Given the description of an element on the screen output the (x, y) to click on. 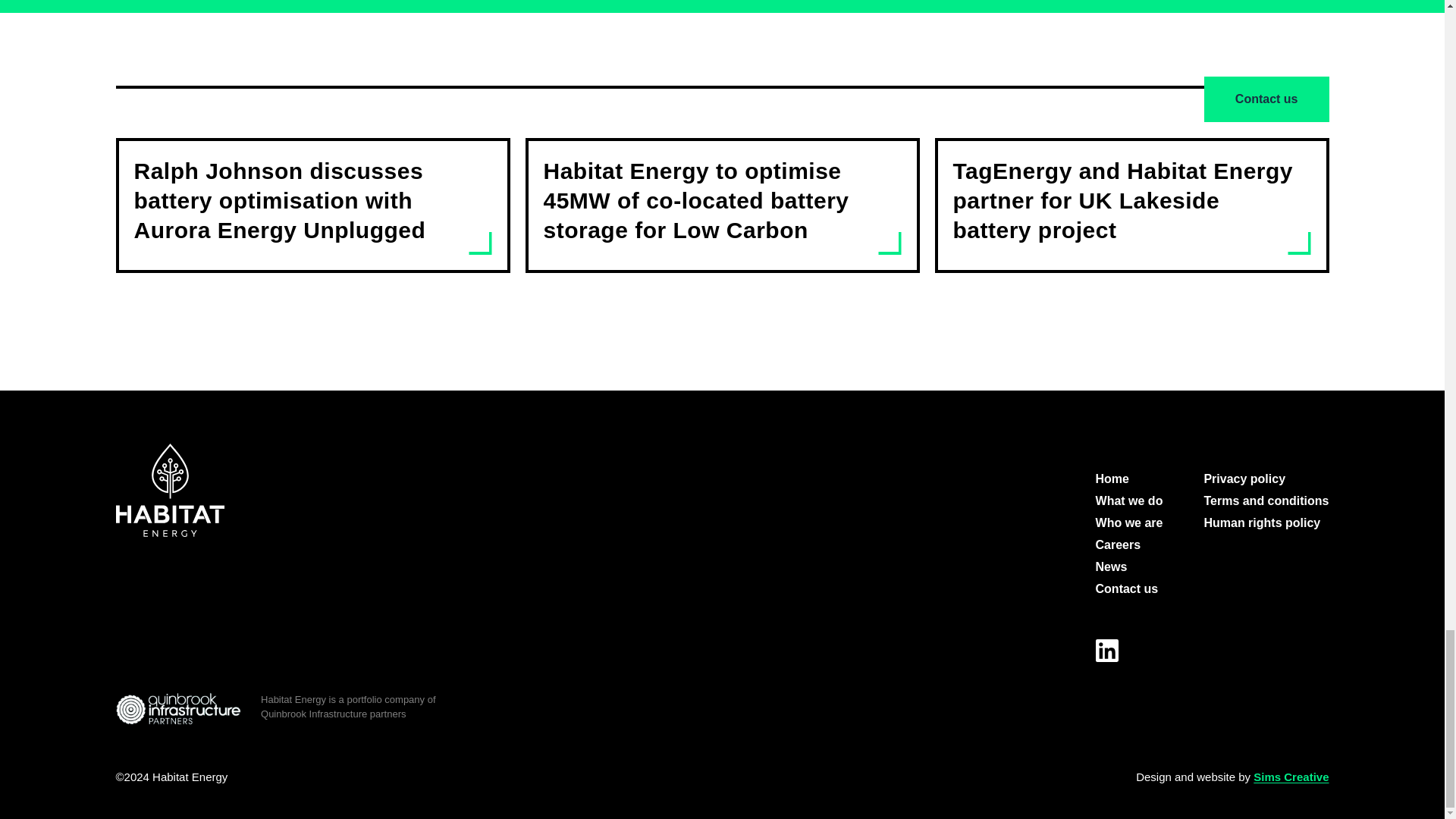
Who we are (1129, 522)
Privacy policy (1244, 478)
Home (1112, 478)
Careers (1118, 544)
Contact us (1127, 588)
Terms and conditions (1265, 500)
What we do (1129, 500)
Human rights policy (1262, 522)
Sims Creative (1290, 776)
News (1111, 567)
